Given the description of an element on the screen output the (x, y) to click on. 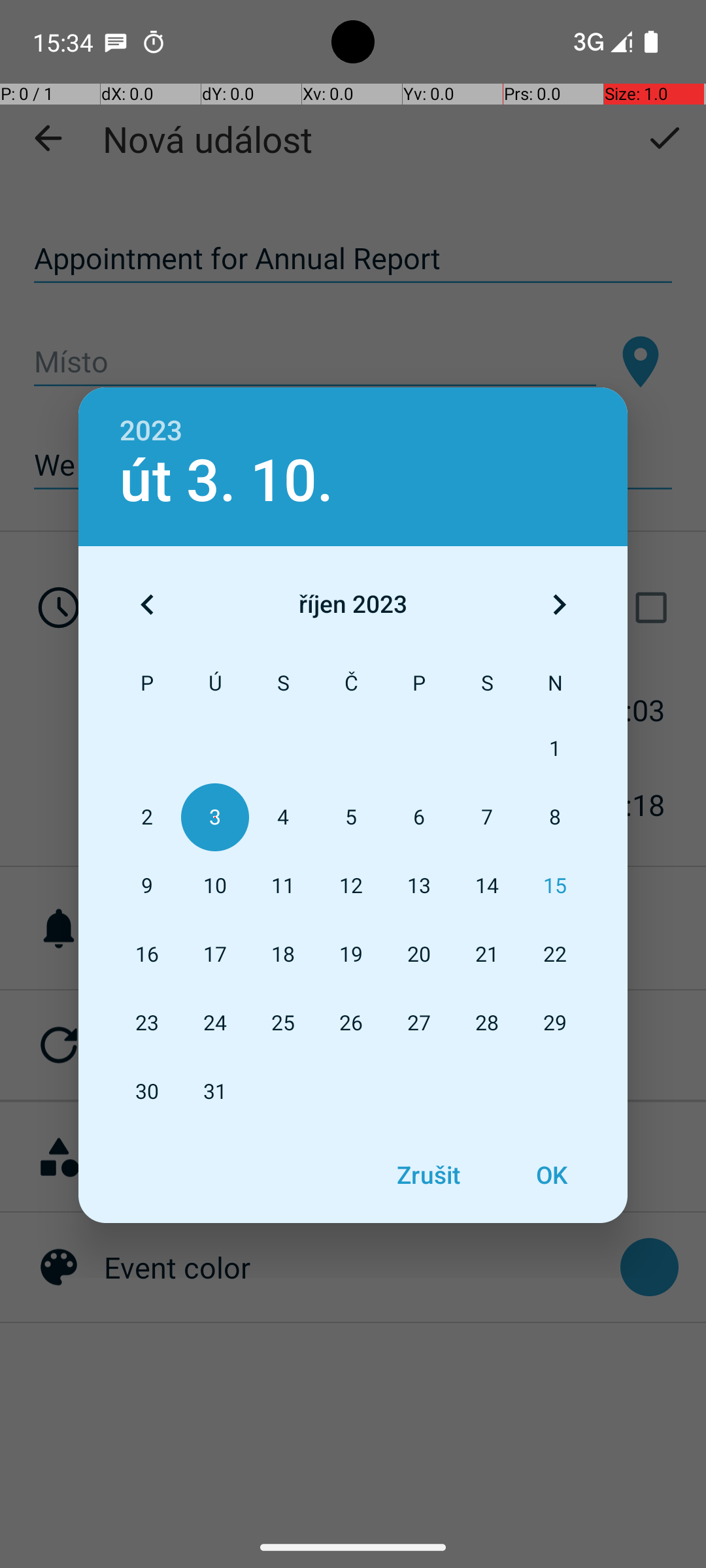
út 3. 10. Element type: android.widget.TextView (226, 480)
Předchozí měsíc Element type: android.widget.ImageButton (146, 604)
Příští měsíc Element type: android.widget.ImageButton (558, 604)
